Given the description of an element on the screen output the (x, y) to click on. 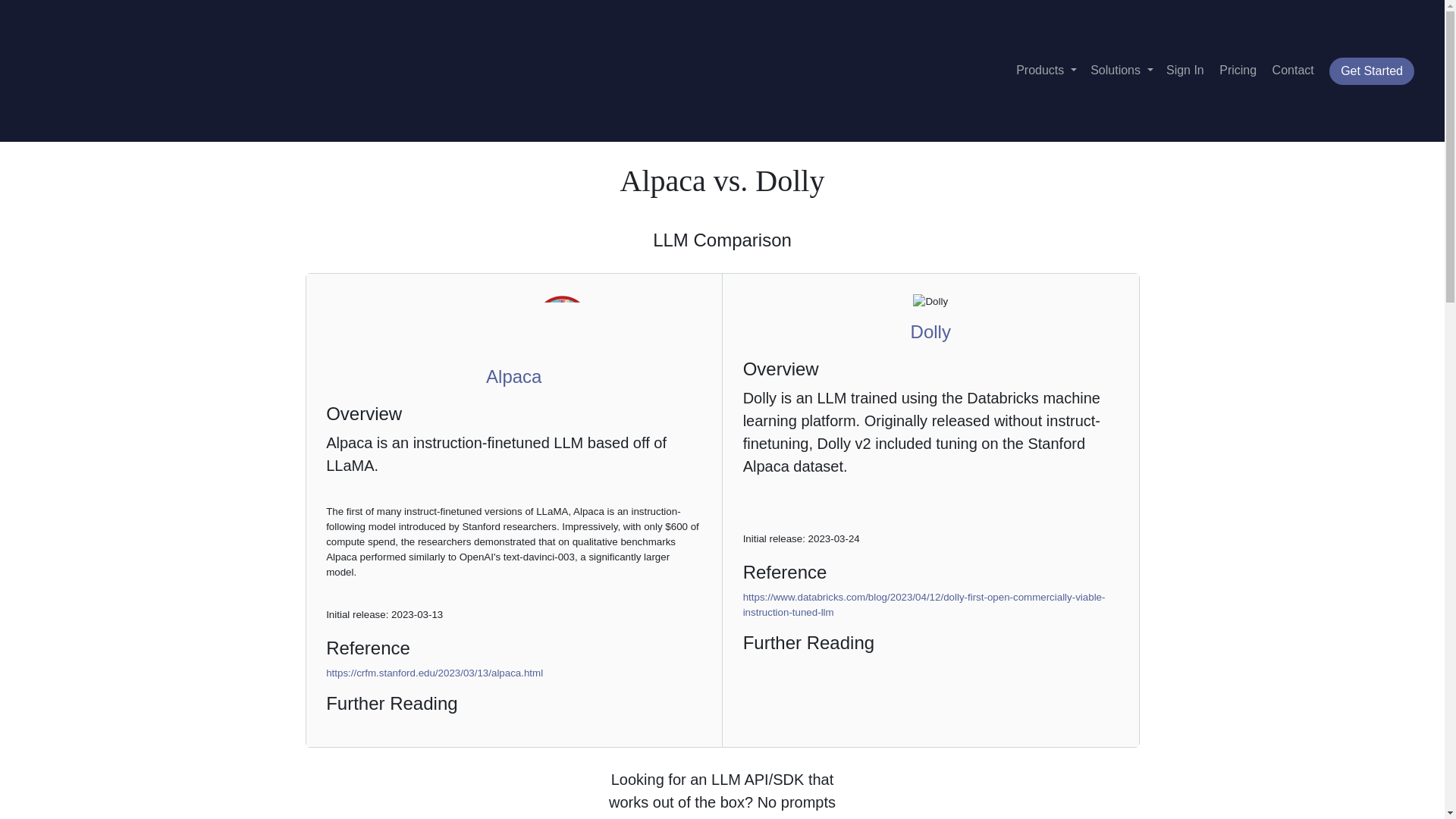
Dolly (930, 331)
Get Started (1371, 71)
Alpaca (513, 376)
Sign In (1184, 69)
Contact (1293, 69)
Pricing (1237, 69)
Solutions (1121, 69)
Products (1046, 69)
